Given the description of an element on the screen output the (x, y) to click on. 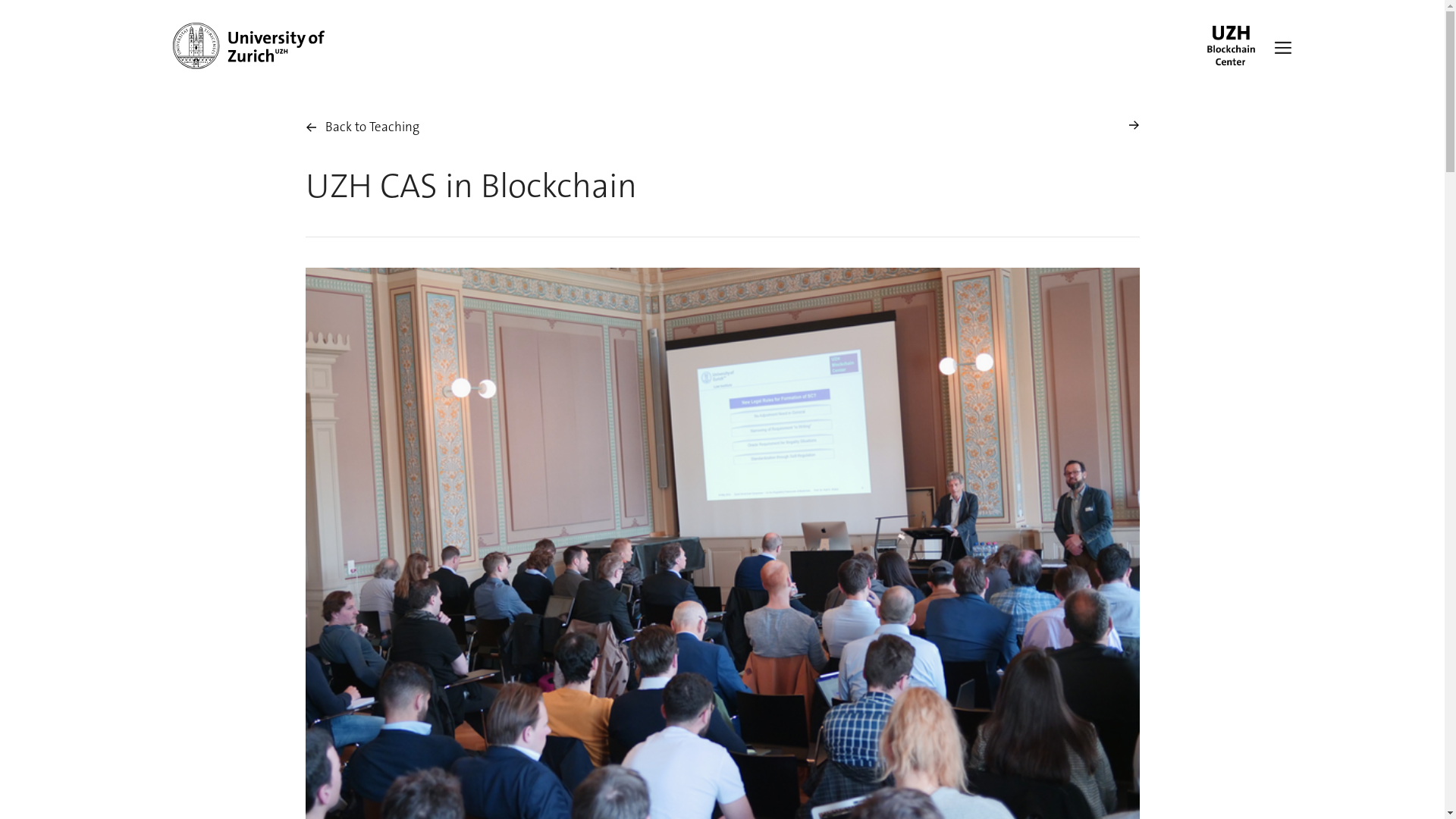
Back to Teaching Element type: text (361, 128)
International Summer School - Deep Dive into Blockchain Element type: hover (1132, 127)
Blockchain Group Element type: hover (1230, 45)
